Given the description of an element on the screen output the (x, y) to click on. 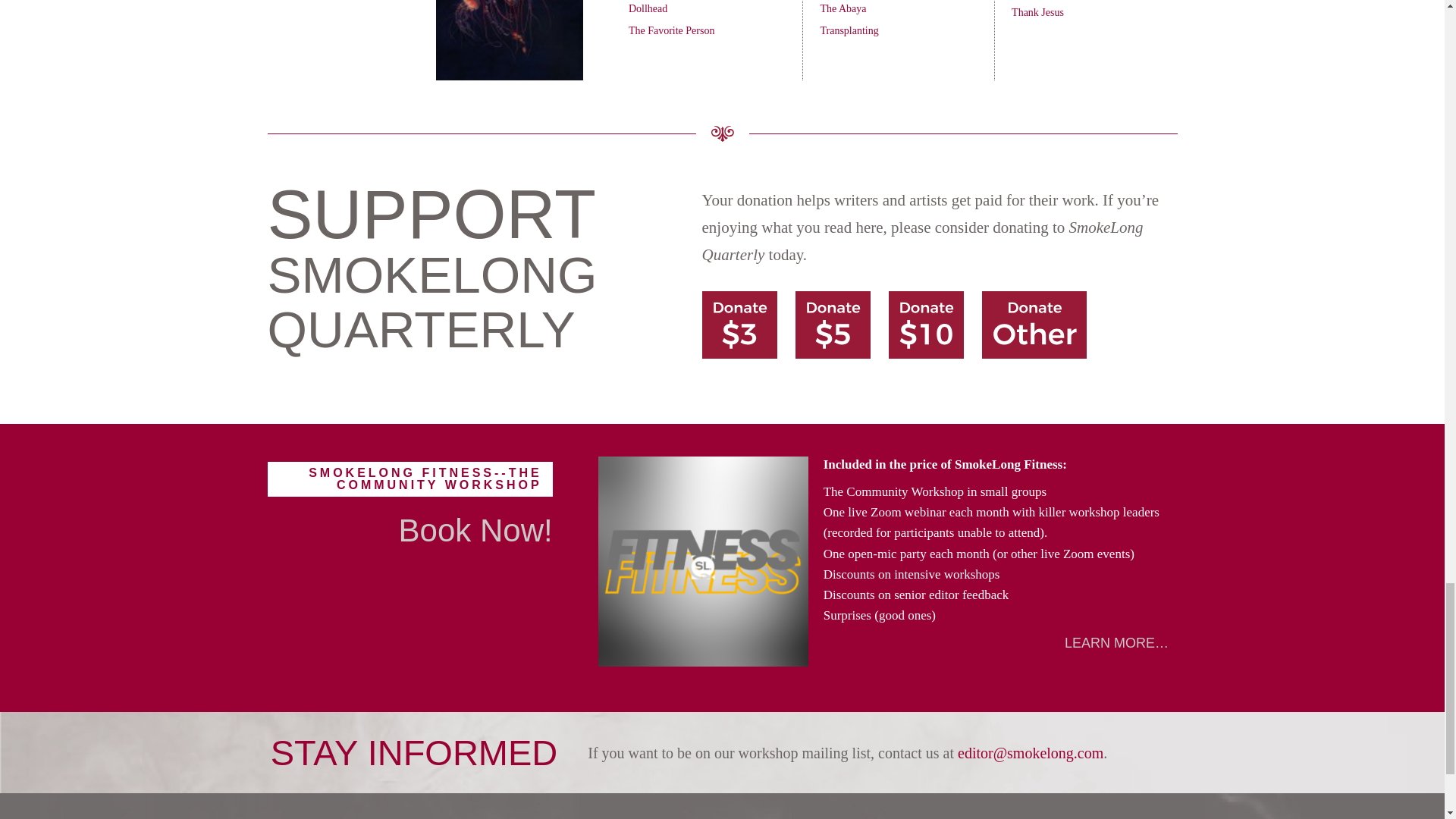
PayPal - The safer, easier way to pay online! (739, 324)
PayPal - The safer, easier way to pay online! (1033, 324)
PayPal - The safer, easier way to pay online! (925, 324)
PayPal - The safer, easier way to pay online! (832, 324)
